Given the description of an element on the screen output the (x, y) to click on. 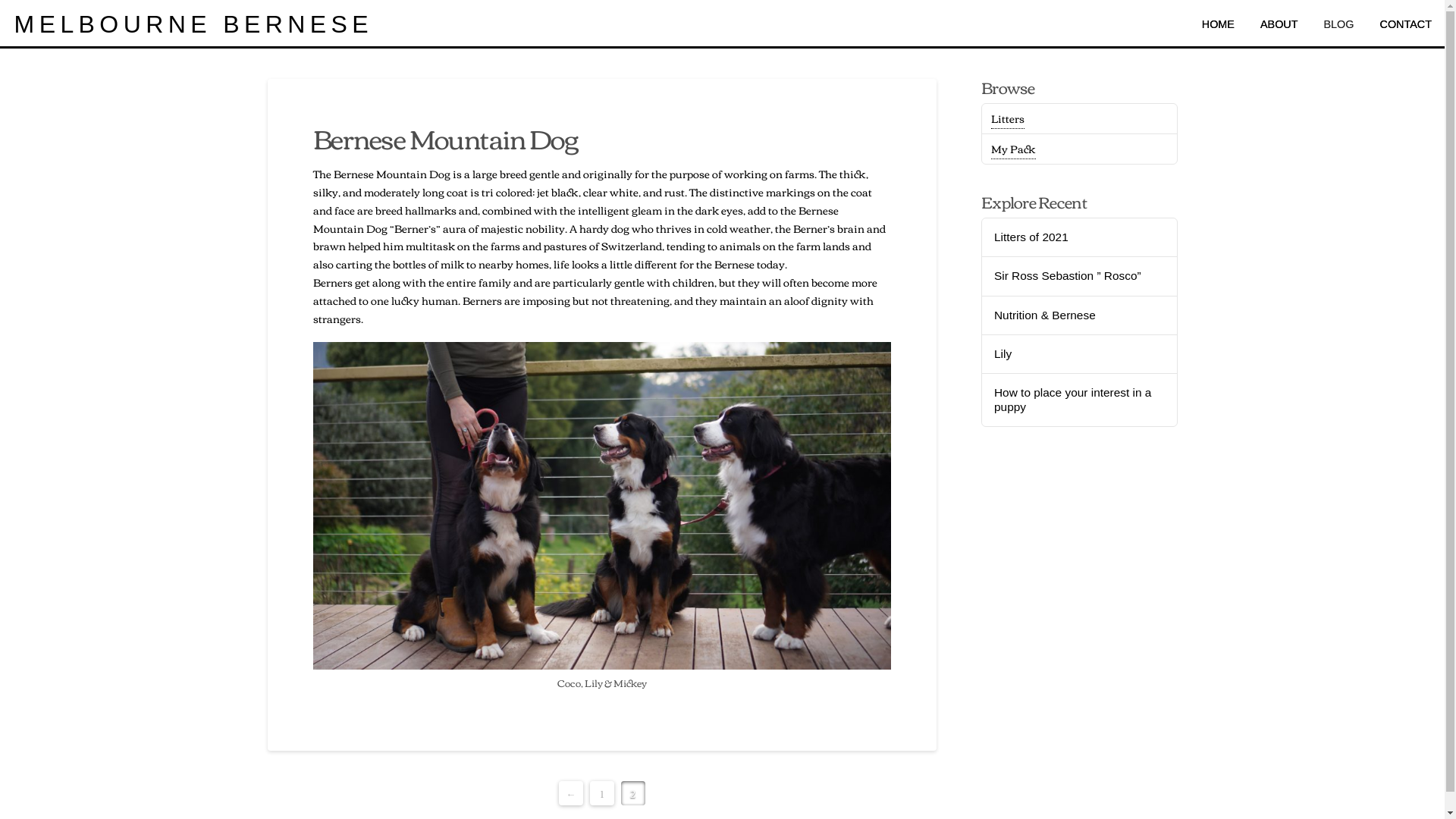
Nutrition & Bernese Element type: text (1079, 315)
Litters Element type: text (1007, 118)
HOME Element type: text (1218, 24)
BLOG Element type: text (1339, 24)
1 Element type: text (601, 793)
How to place your interest in a puppy Element type: text (1079, 399)
Lily Element type: text (1079, 354)
My Pack Element type: text (1013, 148)
Litters of 2021 Element type: text (1079, 237)
ABOUT Element type: text (1279, 24)
CONTACT Element type: text (1405, 24)
Bernese Mountain Dog Element type: text (445, 137)
MELBOURNE BERNESE Element type: text (191, 24)
